Given the description of an element on the screen output the (x, y) to click on. 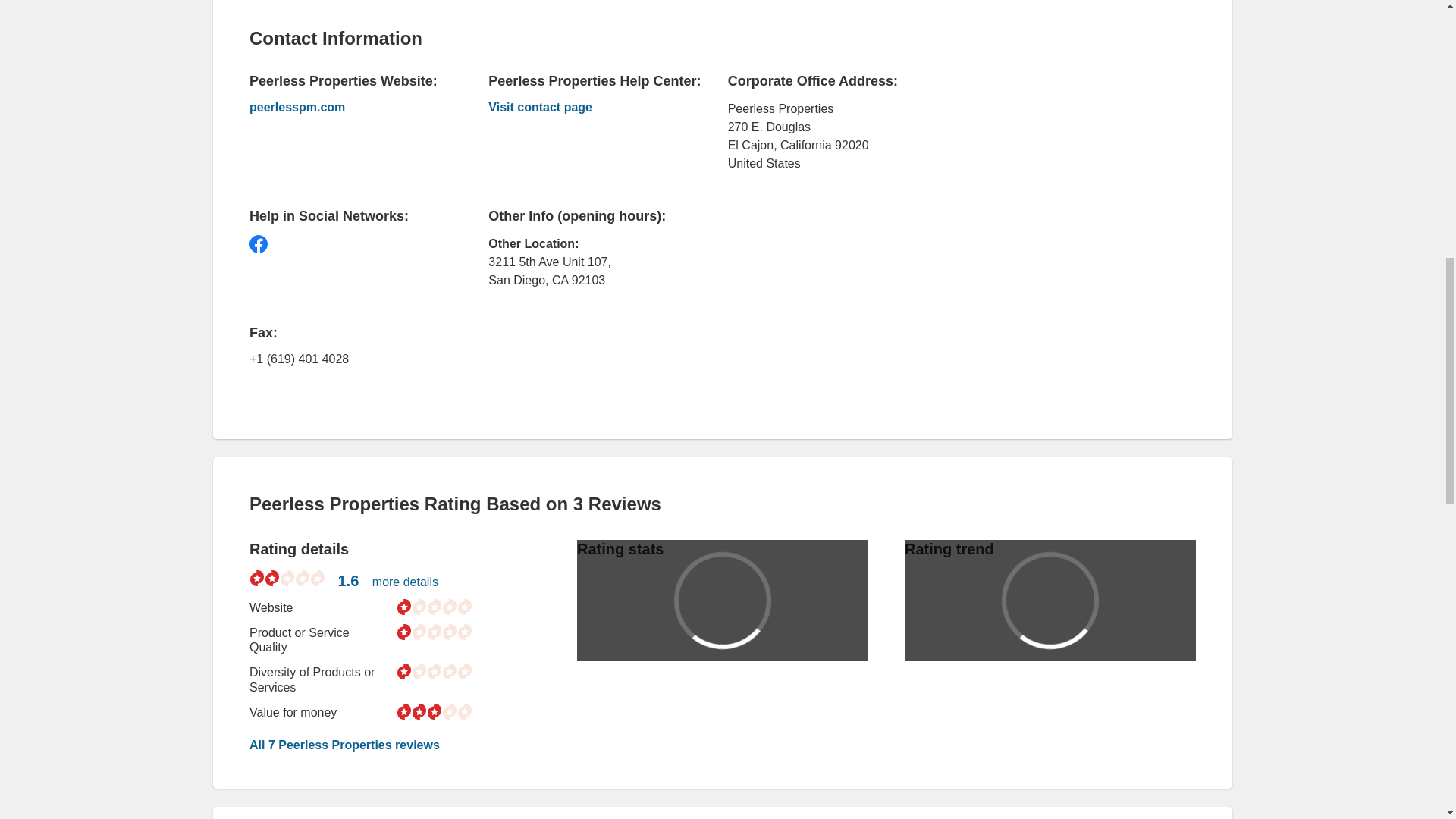
Visit contact page (584, 108)
Facebook link (257, 244)
Peerless Properties (584, 108)
peerlesspm.com (345, 107)
Facebook (257, 244)
Peerless Properties (345, 107)
All 7 Peerless Properties reviews (343, 744)
